Given the description of an element on the screen output the (x, y) to click on. 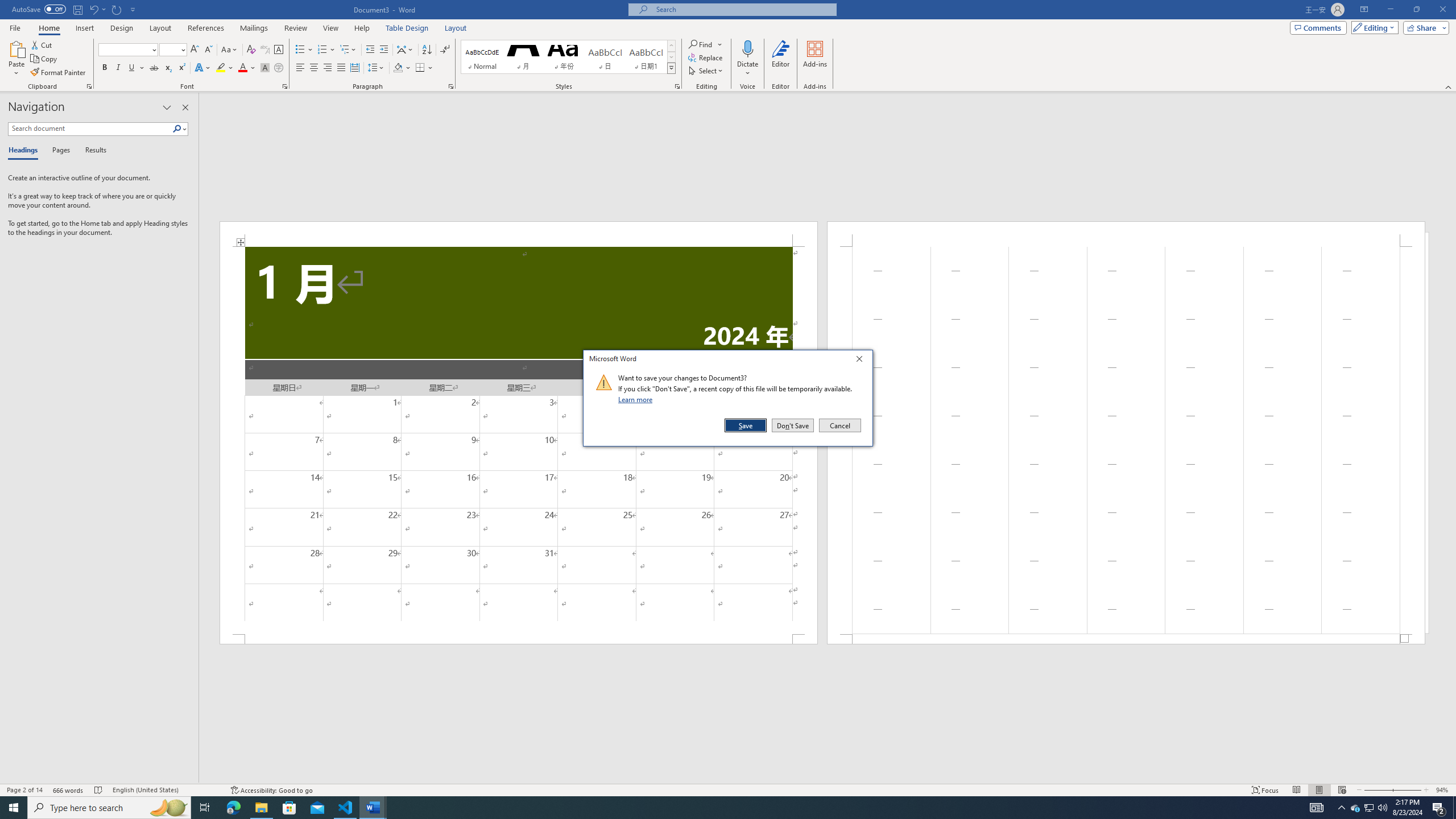
Text Effects and Typography (202, 67)
Multilevel List (347, 49)
Editor (780, 58)
Dictate (747, 58)
Paste (16, 58)
View (330, 28)
Customize Quick Access Toolbar (133, 9)
Action Center, 2 new notifications (1439, 807)
Shading RGB(0, 0, 0) (397, 67)
Results (91, 150)
More Options (747, 68)
Show desktop (1454, 807)
Font (124, 49)
Mode (1372, 27)
AutomationID: 4105 (1316, 807)
